Given the description of an element on the screen output the (x, y) to click on. 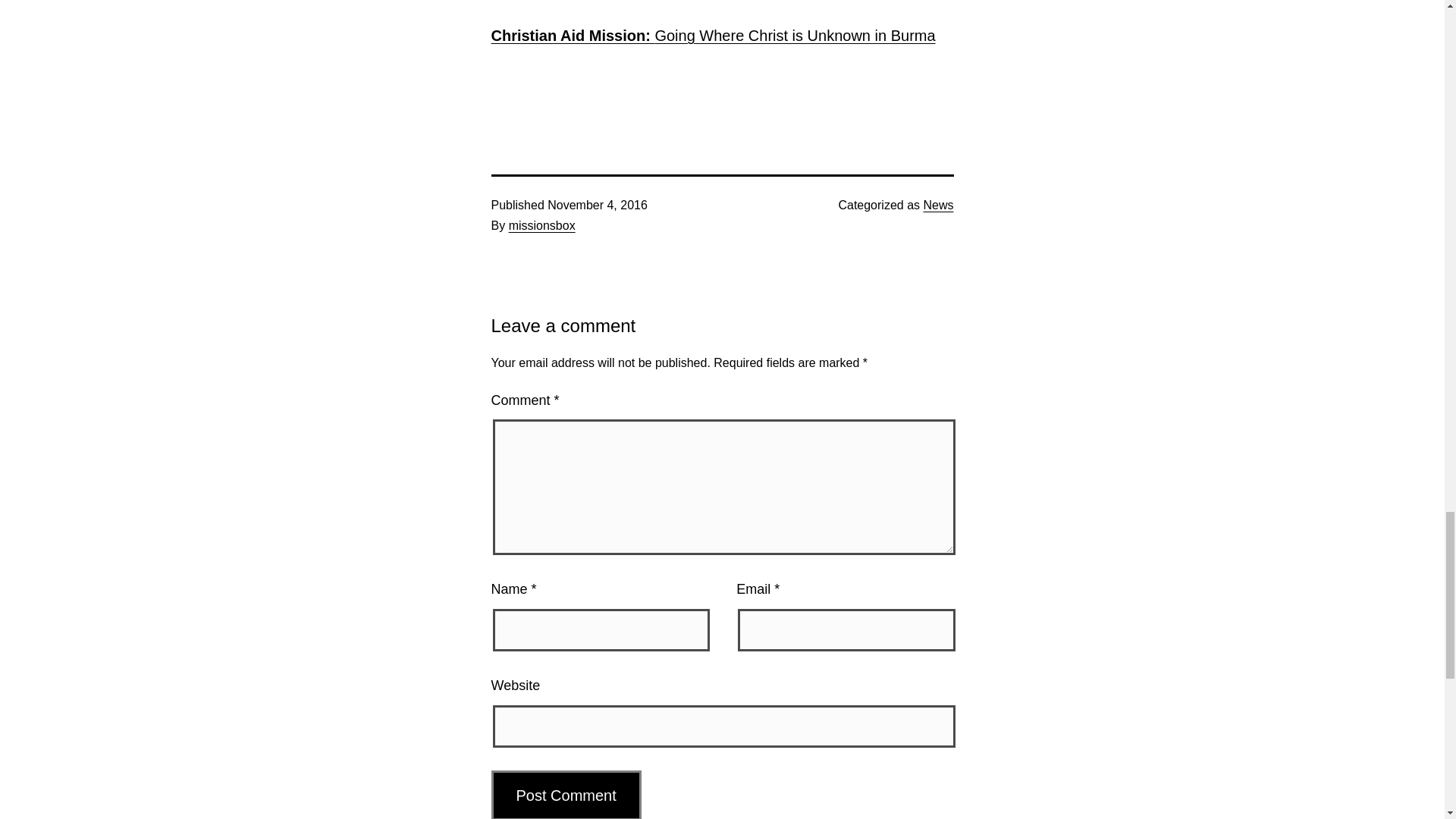
News (938, 205)
missionsbox (541, 225)
Post Comment (567, 794)
Post Comment (567, 794)
